Given the description of an element on the screen output the (x, y) to click on. 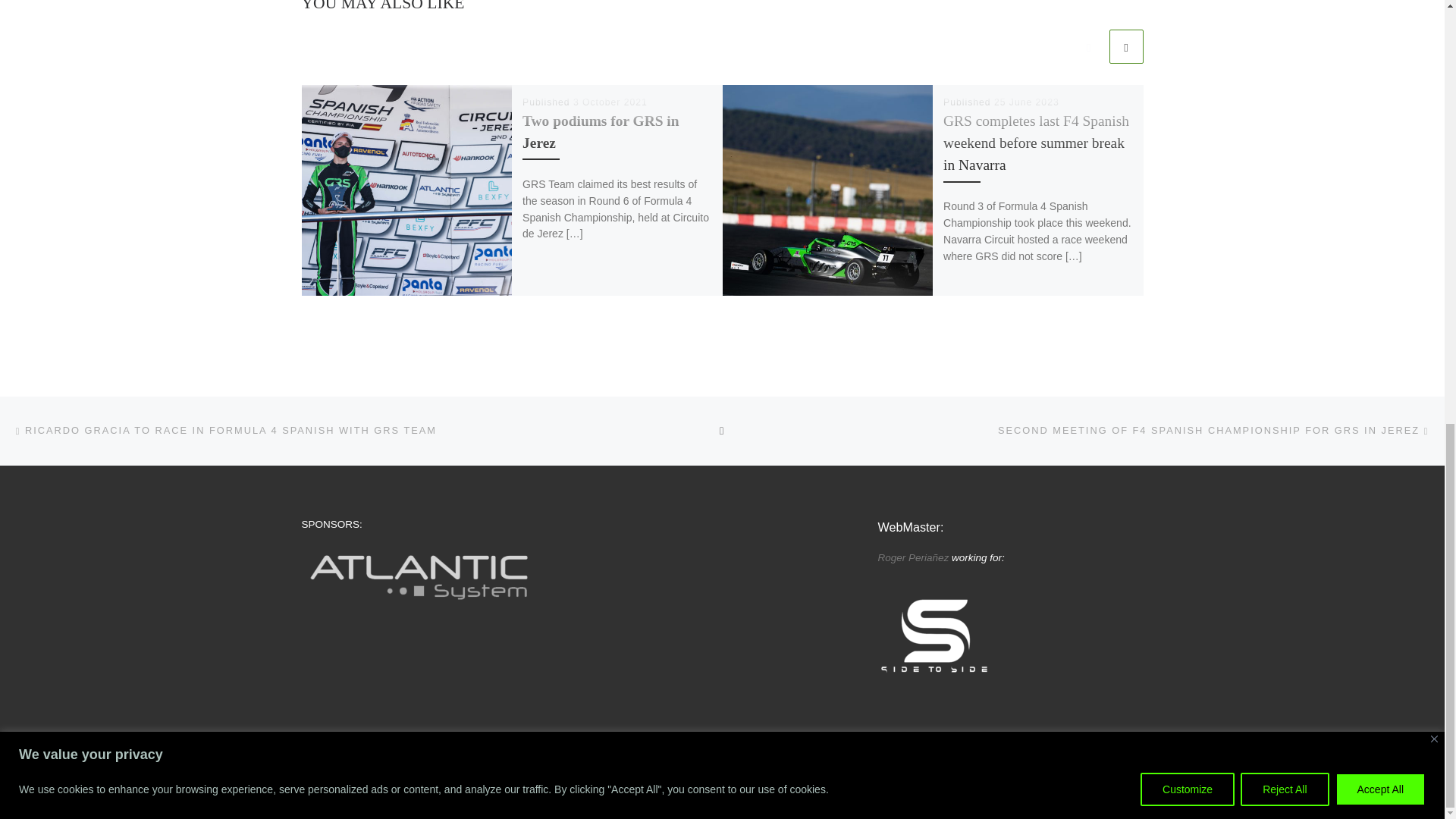
Previous related articles (1088, 46)
Next related articles (1125, 46)
